Given the description of an element on the screen output the (x, y) to click on. 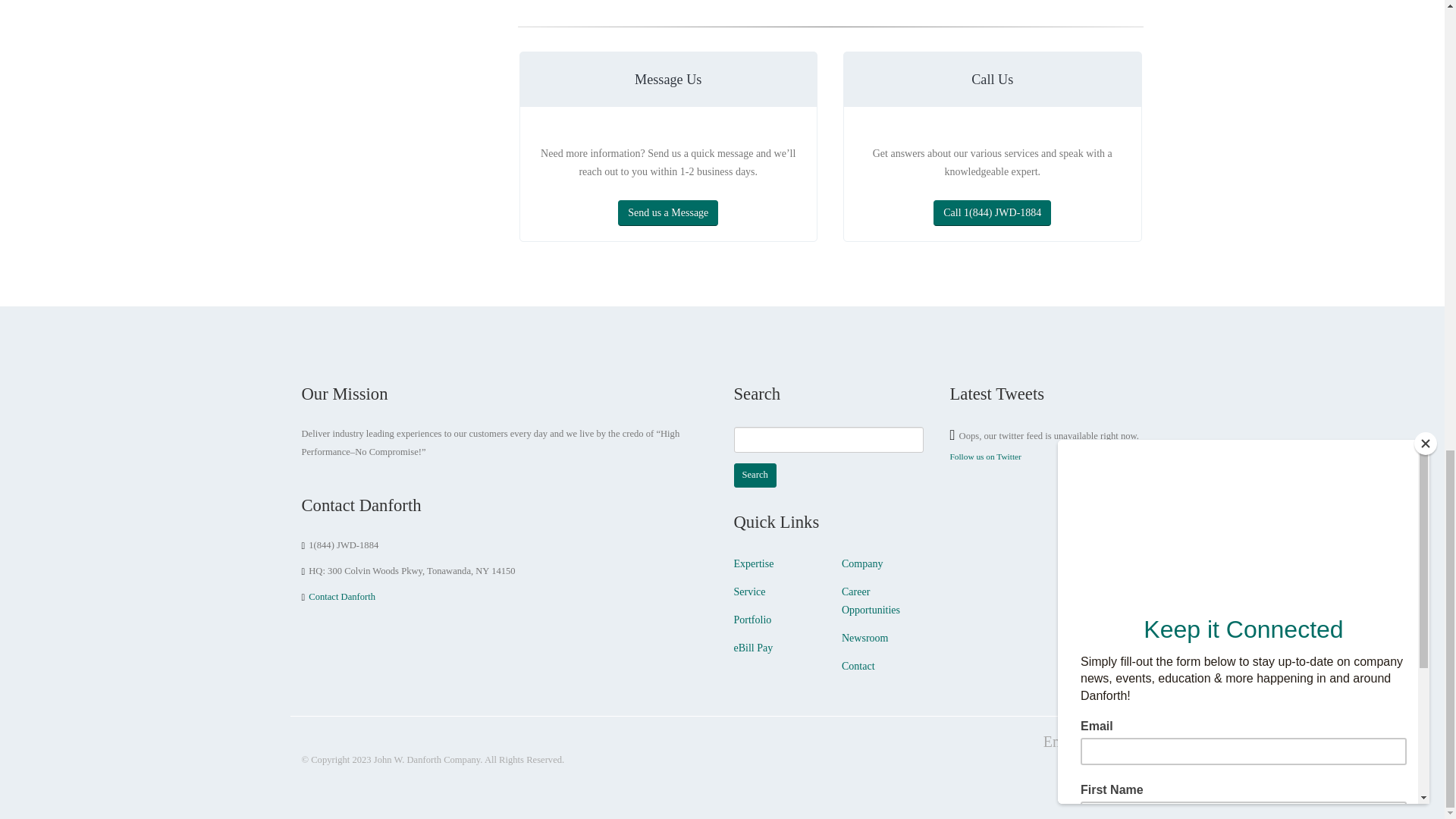
Search (754, 475)
